Given the description of an element on the screen output the (x, y) to click on. 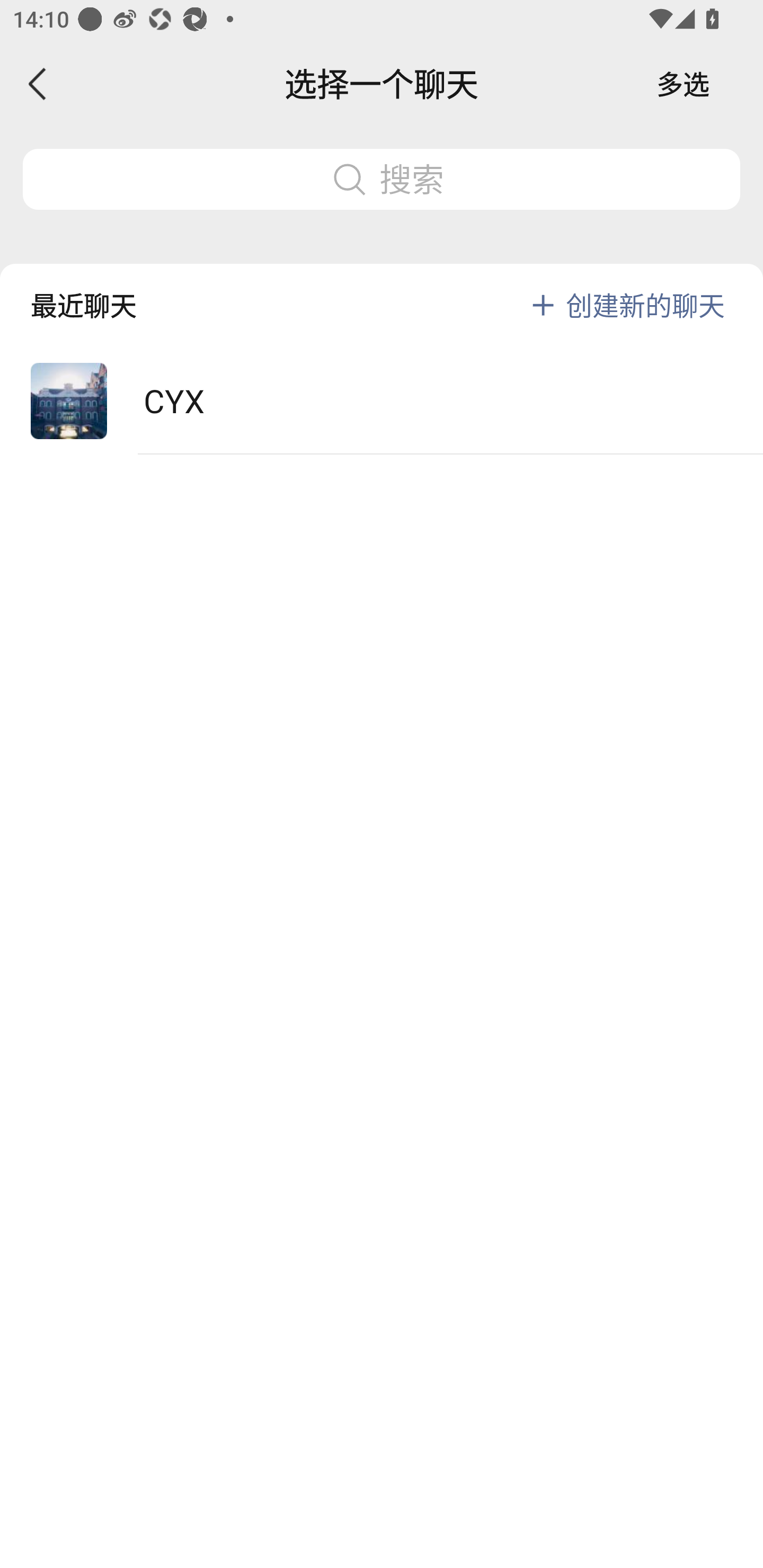
返回 (38, 83)
多选 (683, 83)
最近聊天 创建新的聊天 (381, 290)
创建新的聊天 (645, 304)
CYX (381, 401)
